Given the description of an element on the screen output the (x, y) to click on. 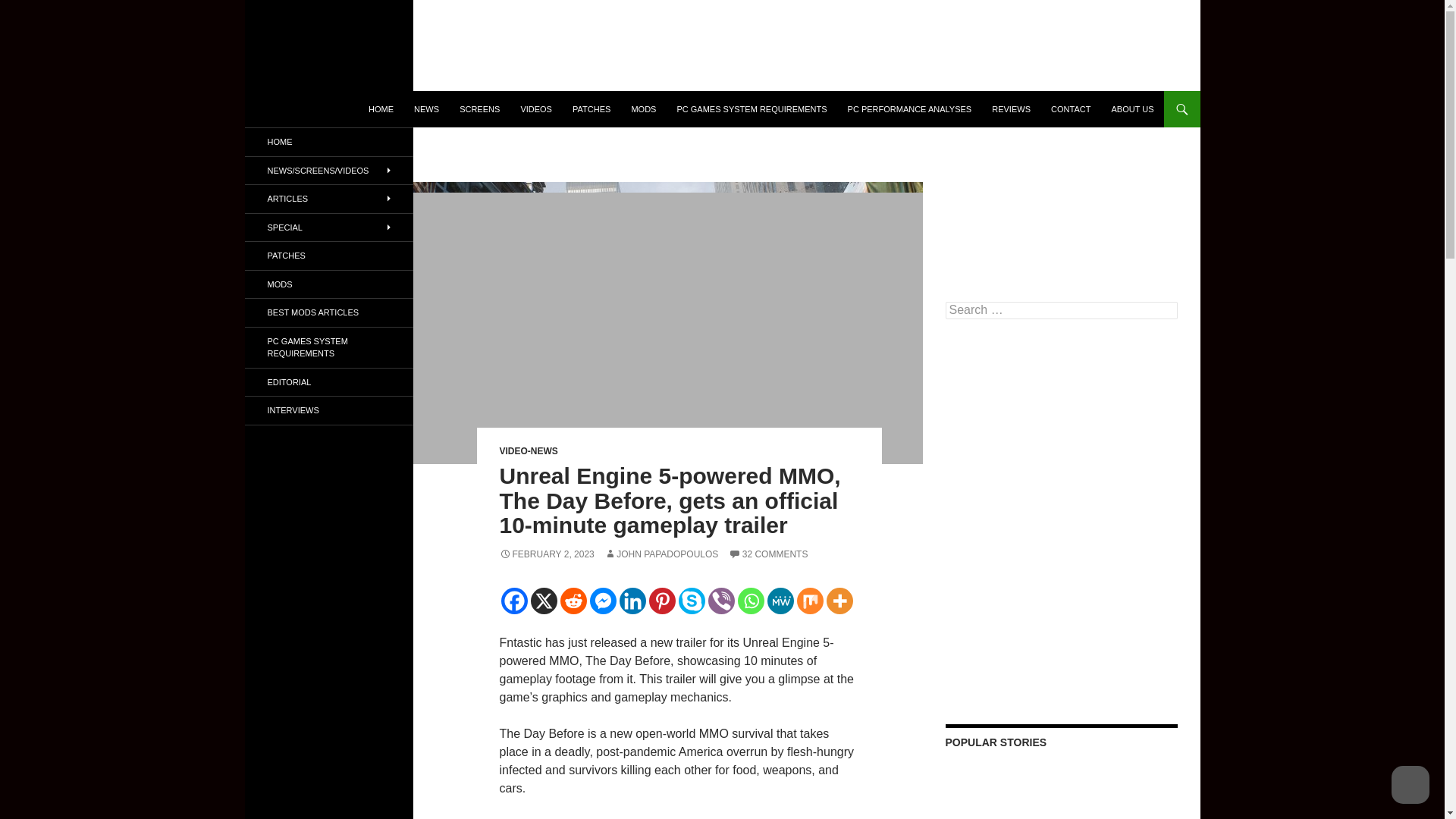
Viber (721, 601)
Facebook (513, 601)
Skype (691, 601)
Pinterest (662, 601)
HOME (381, 108)
NEWS (426, 108)
FEBRUARY 2, 2023 (546, 553)
JOHN PAPADOPOULOS (660, 553)
REVIEWS (1010, 108)
Mix (809, 601)
ABOUT US (1131, 108)
Whatsapp (749, 601)
More (840, 601)
32 COMMENTS (768, 553)
VIDEOS (535, 108)
